Given the description of an element on the screen output the (x, y) to click on. 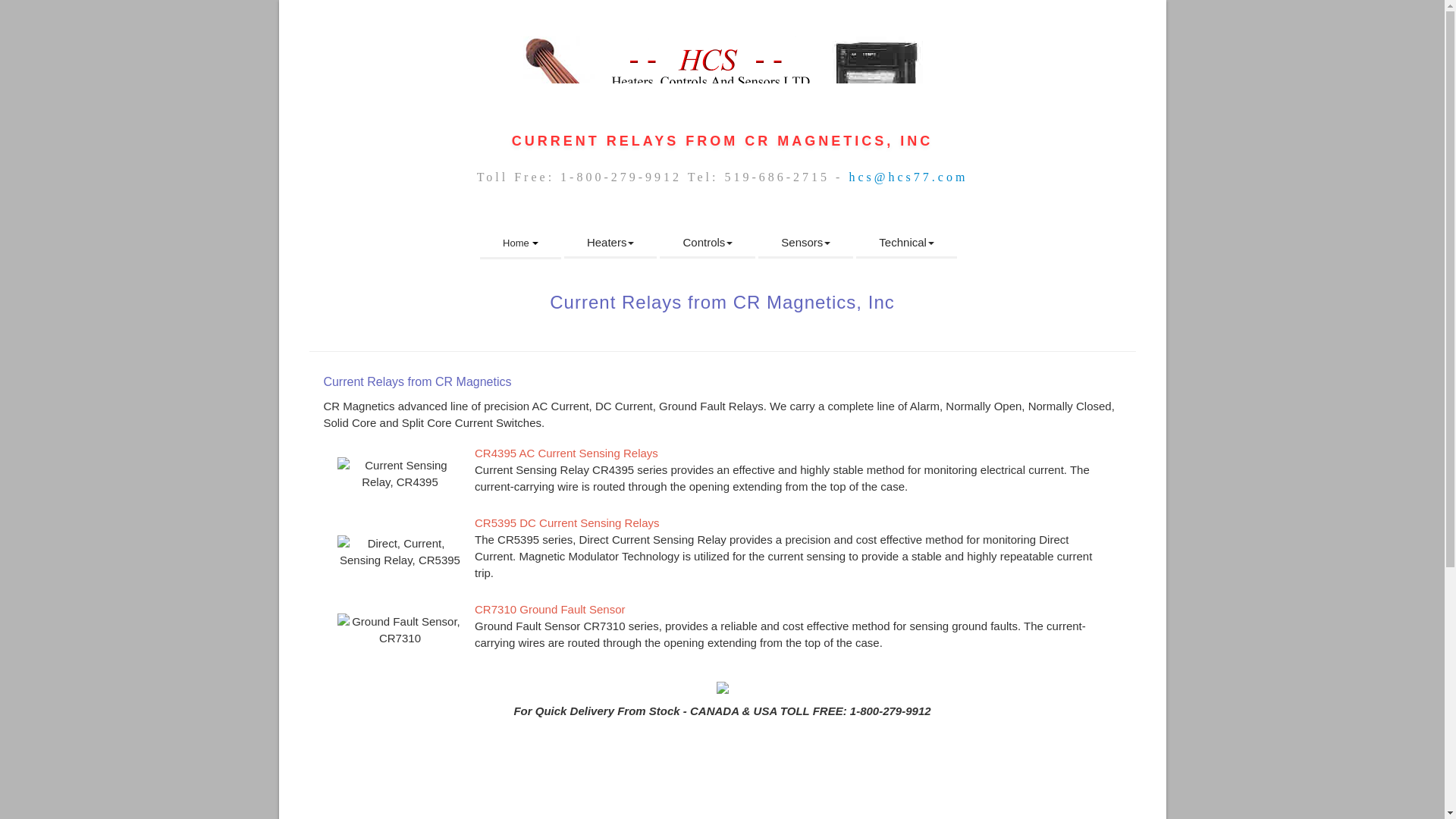
Home (520, 243)
Heaters (611, 243)
Controls (707, 243)
